Given the description of an element on the screen output the (x, y) to click on. 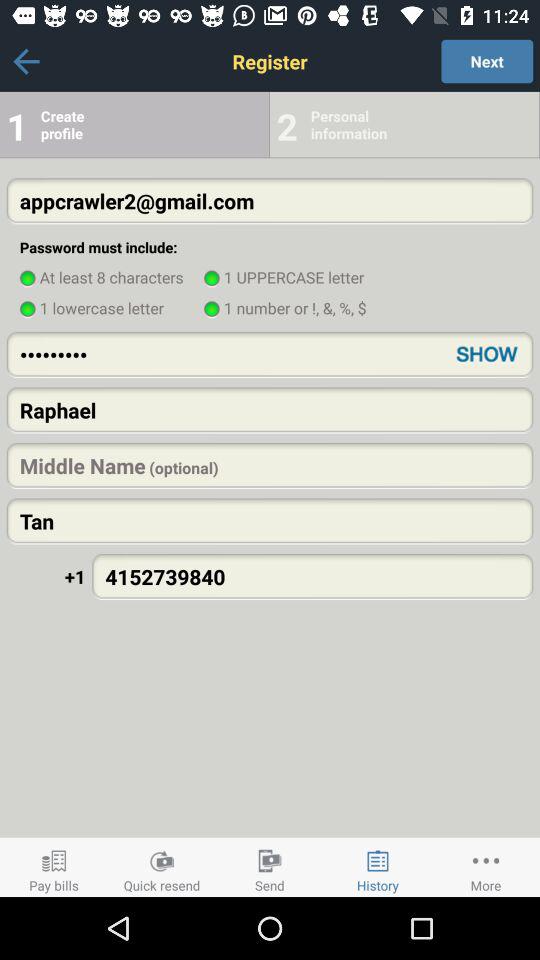
go to the text above the text password must include (269, 200)
select the text field which is above tan on the page (269, 465)
